Given the description of an element on the screen output the (x, y) to click on. 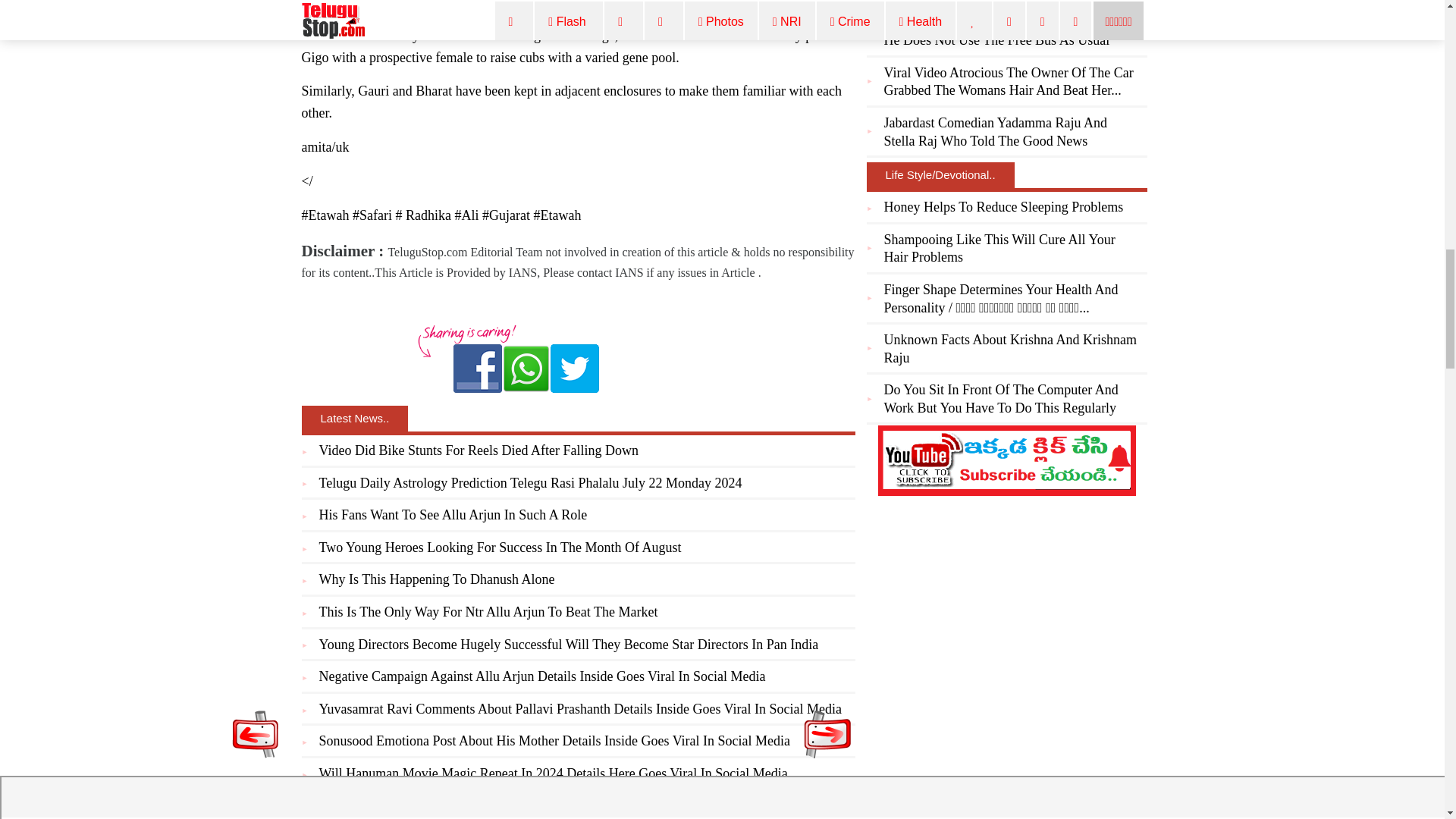
Heroines Who Can Cry Naturally (410, 805)
This Is The Only Way For Ntr Allu Arjun To Beat The Market (488, 611)
Why Is This Happening To Dhanush Alone (436, 579)
Follow Us on Twitter (574, 368)
Two Young Heroes Looking For Success In The Month Of August (499, 547)
Follow Us on WhatsApp (526, 368)
Video Did Bike Stunts For Reels Died After Falling Down (477, 450)
His Fans Want To See Allu Arjun In Such A Role (452, 514)
Follow Us on Facebook (477, 368)
